Given the description of an element on the screen output the (x, y) to click on. 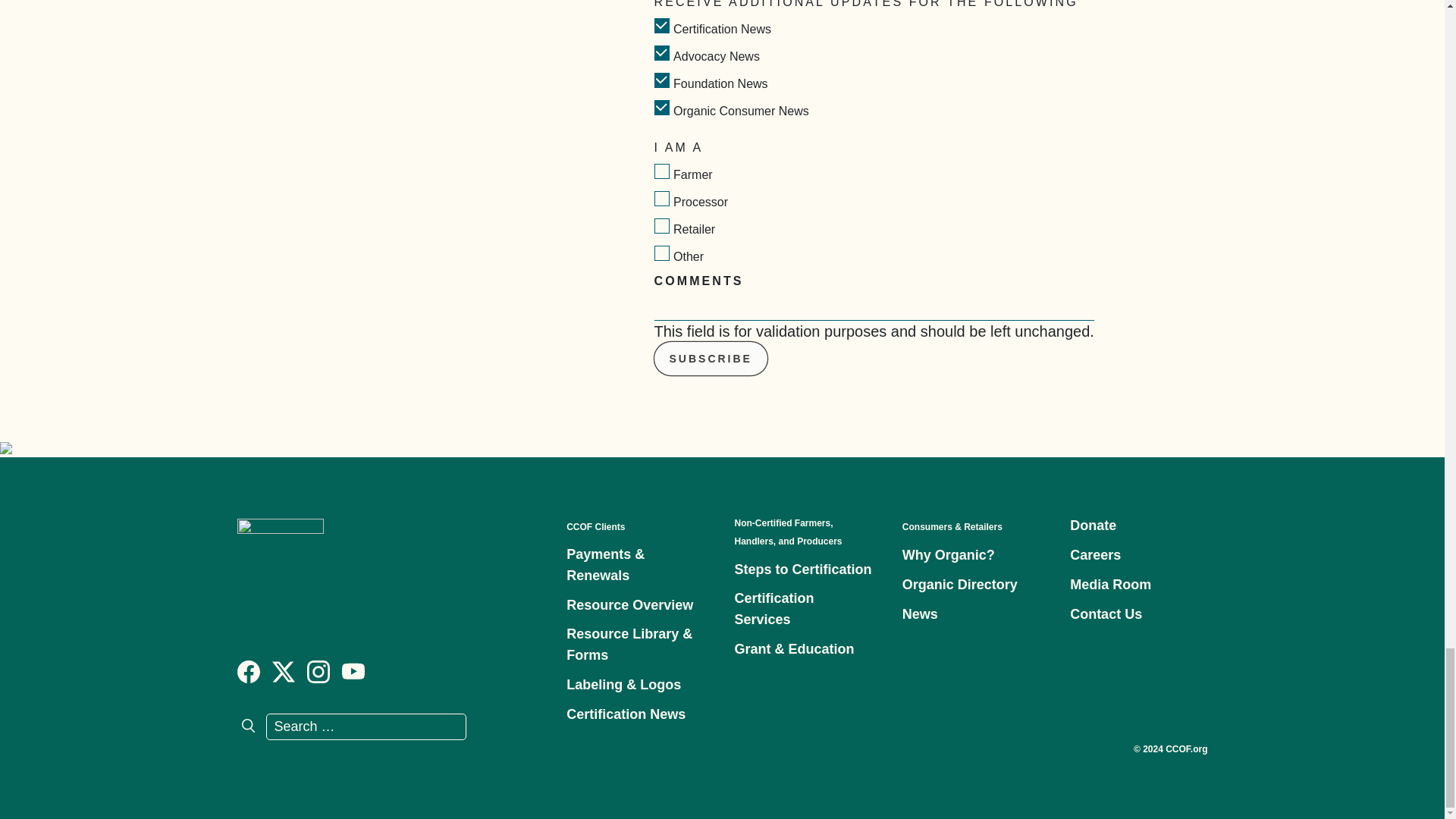
Organic Consumer News (660, 107)
Advocacy News (660, 52)
Certification News (660, 25)
Farmer (660, 171)
Processor (660, 198)
Retailer (660, 225)
Other (660, 253)
Subscribe (710, 358)
Foundation News (660, 79)
